Given the description of an element on the screen output the (x, y) to click on. 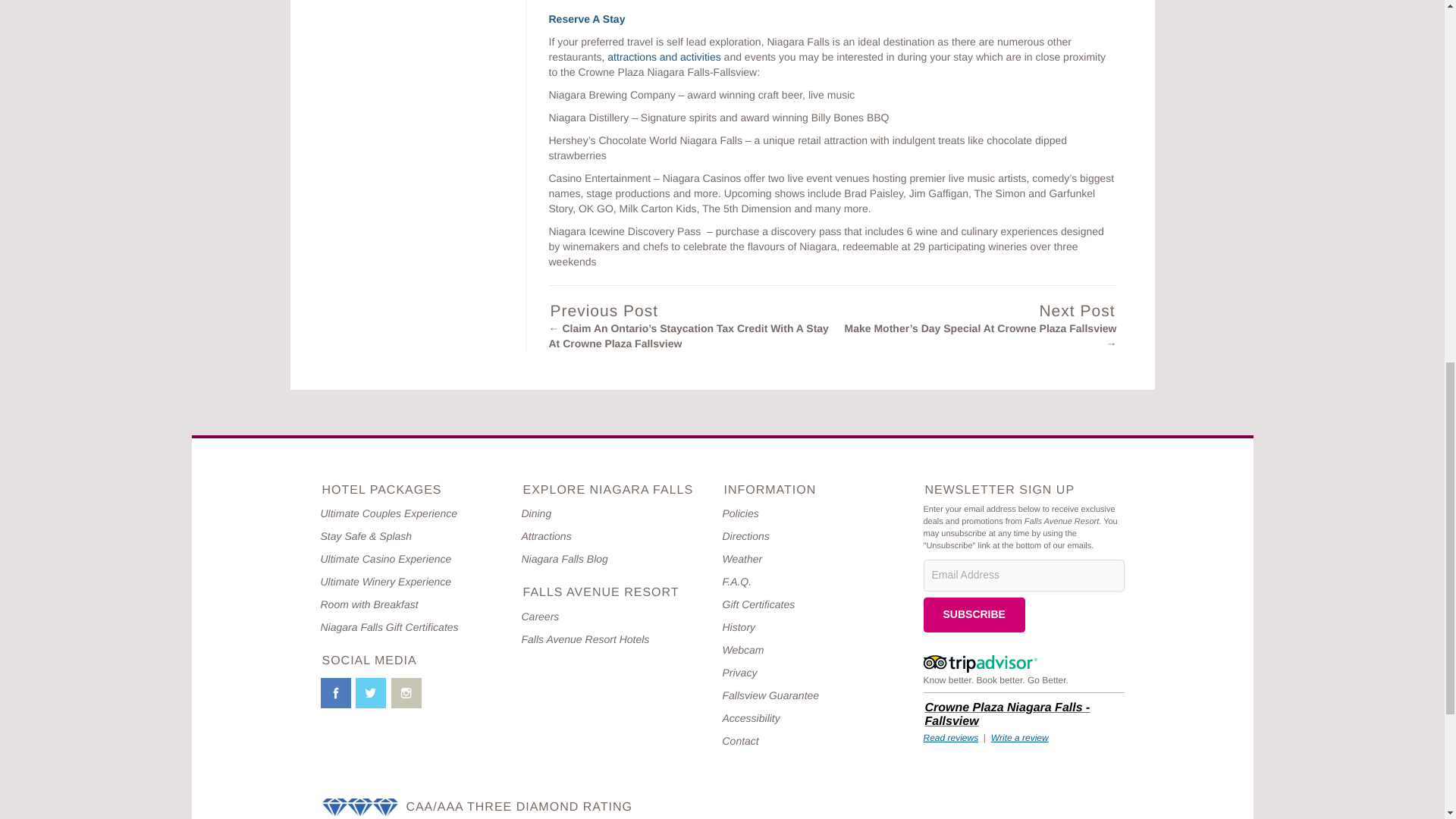
Room with Breakfast (368, 604)
Reserve A Stay (587, 19)
Ultimate Casino Experience (385, 558)
Follow Us on Twitter (370, 692)
attractions and activities (663, 56)
Follow Us on Instagram (406, 692)
Like Us on Facebook (335, 692)
Niagara Falls Gift Certificates (389, 626)
Ultimate Couples Experience (388, 512)
Ultimate Winery Experience (385, 581)
